Given the description of an element on the screen output the (x, y) to click on. 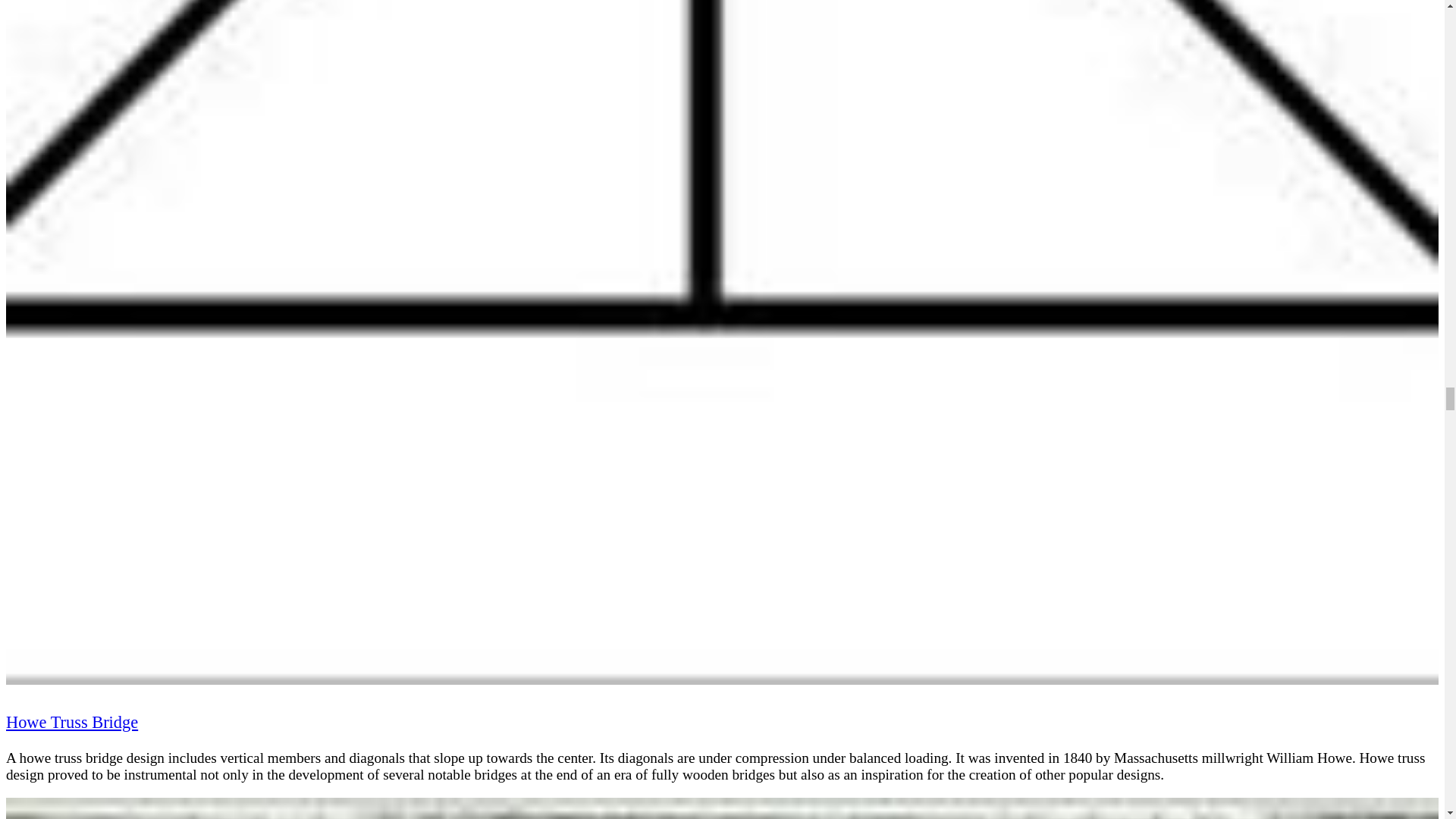
Howe Truss Bridge (71, 722)
